Given the description of an element on the screen output the (x, y) to click on. 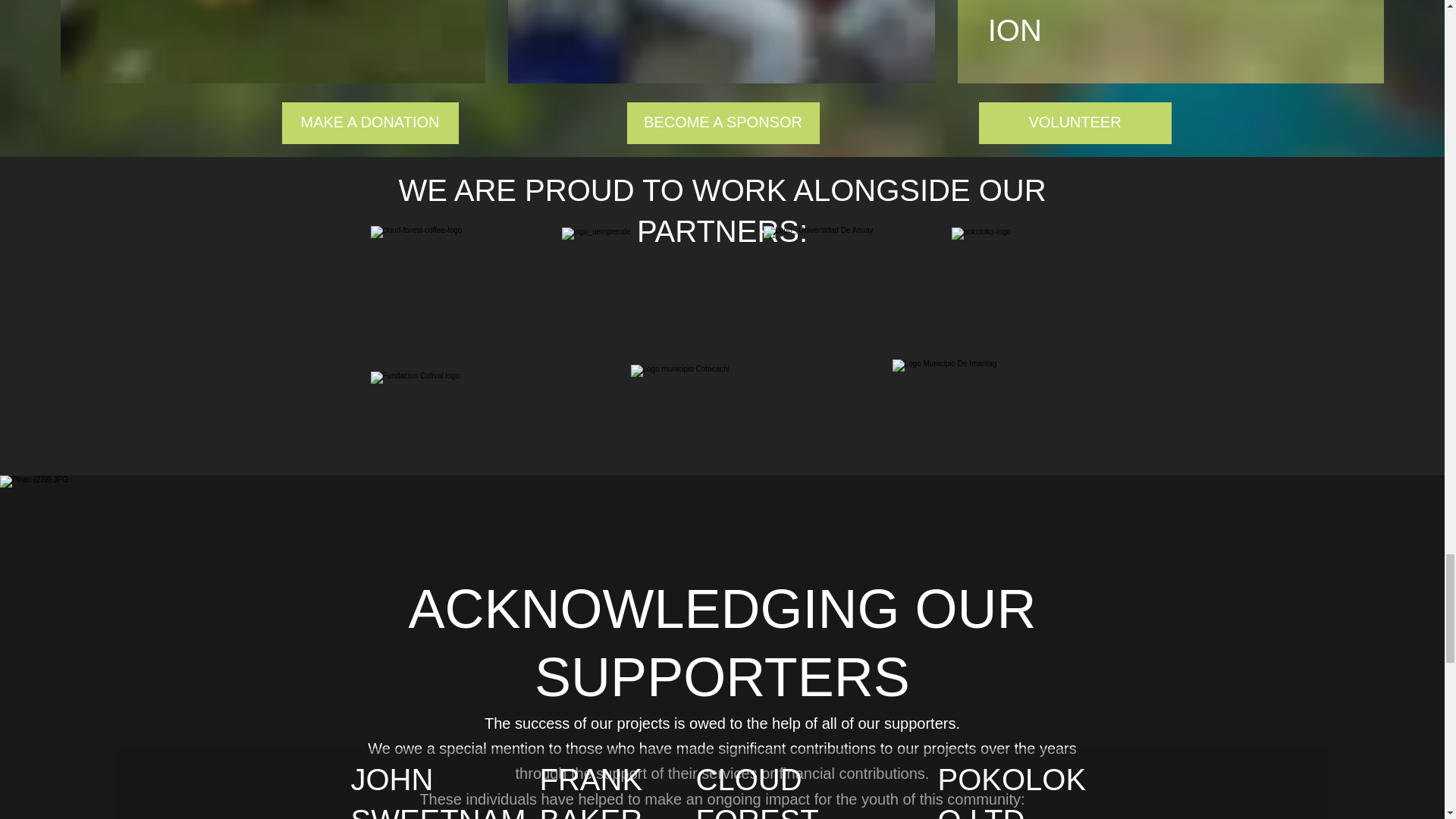
MAKE A DONATION (370, 123)
BECOME A SPONSOR (722, 123)
VOLUNTEER (1074, 123)
